Given the description of an element on the screen output the (x, y) to click on. 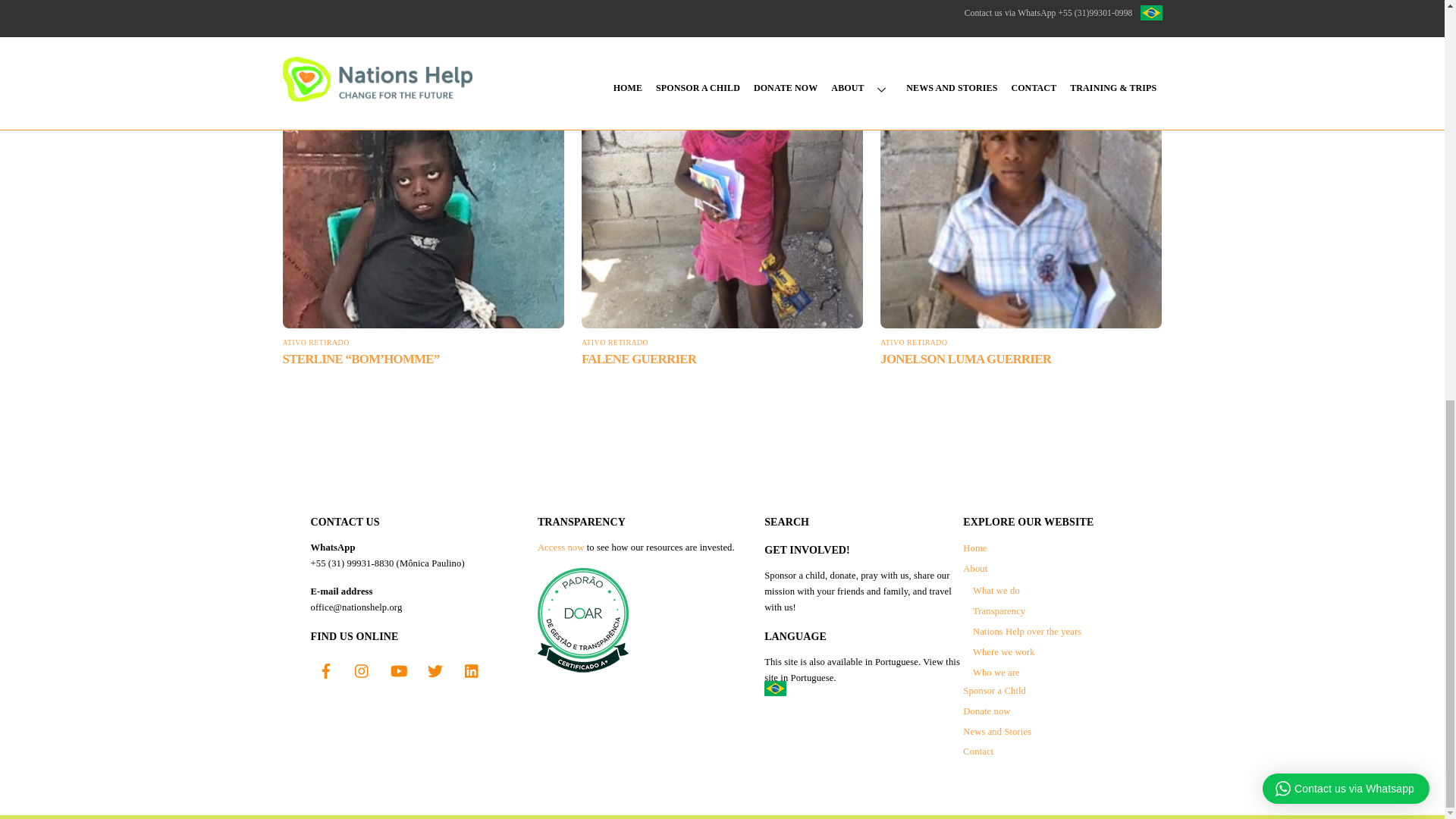
Contact (977, 751)
Donate now (986, 710)
Where we work (1003, 652)
ATIVO RETIRADO (315, 342)
ATIVO RETIRADO (913, 342)
News and Stories (996, 731)
FALENE GUERRIER (637, 359)
Transparency (998, 611)
What we do (996, 590)
Sponsor a Child (994, 690)
ATIVO RETIRADO (613, 342)
About (974, 568)
Nations Help over the years (1026, 631)
Who we are (996, 672)
Dieulane Derosier (499, 5)
